Given the description of an element on the screen output the (x, y) to click on. 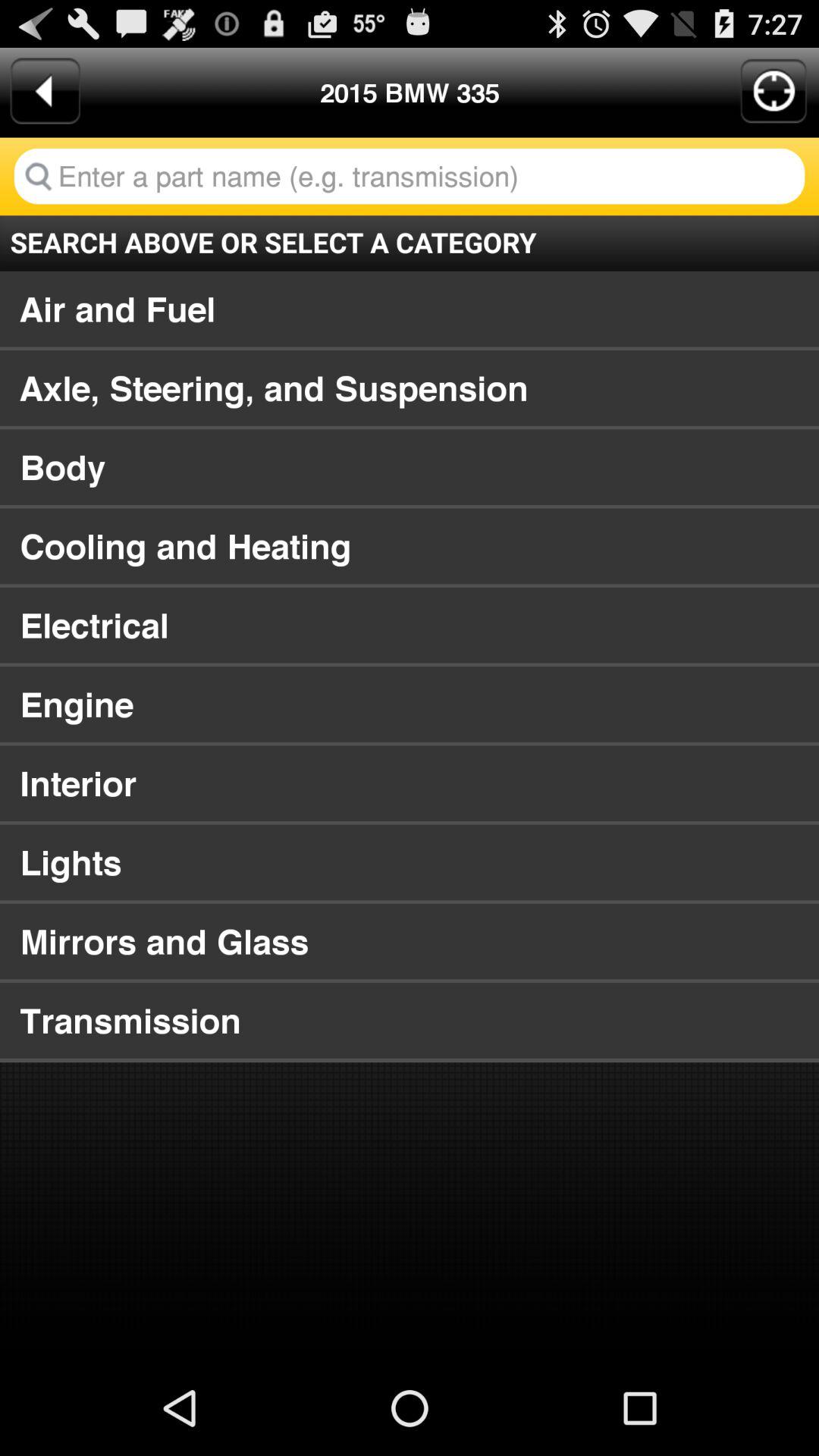
click on the button on left of 2015 bmw 335 (45, 90)
